Given the description of an element on the screen output the (x, y) to click on. 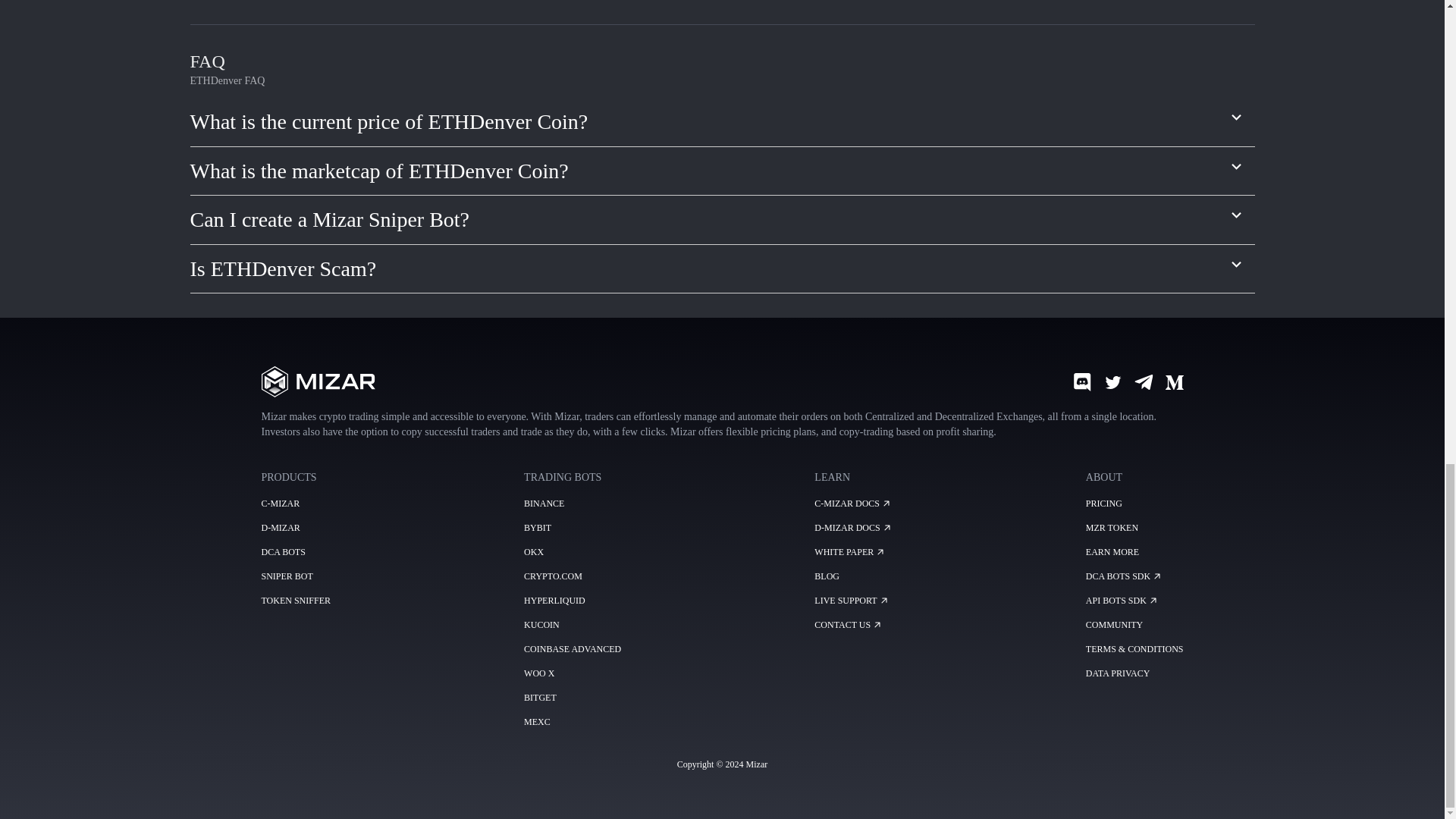
discord (1080, 382)
telegram (1143, 382)
DCA BOTS (282, 552)
twitter (1112, 382)
TOKEN SNIFFER (295, 600)
D-MIZAR (279, 527)
SNIPER BOT (286, 575)
C-MIZAR (279, 502)
medium (1173, 382)
